Given the description of an element on the screen output the (x, y) to click on. 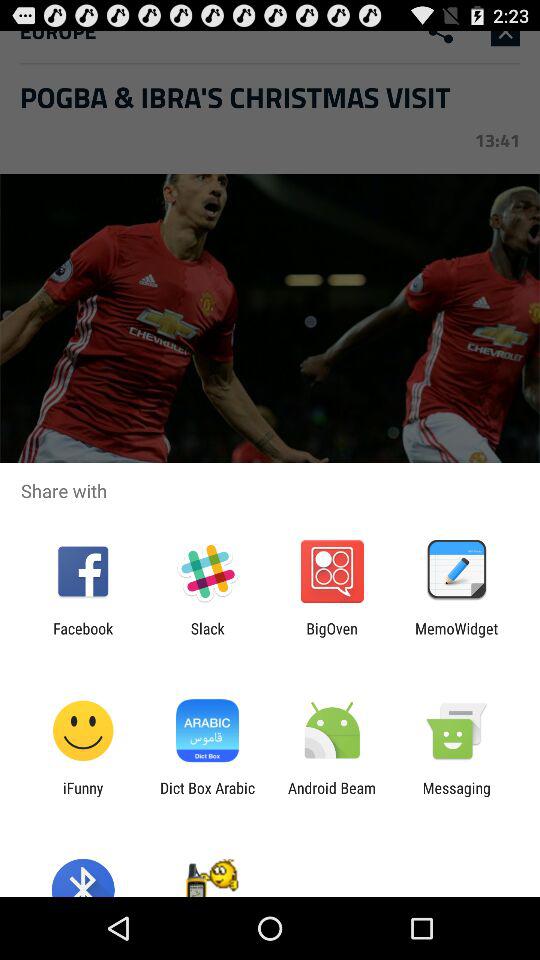
turn on item to the right of bigoven (456, 637)
